Given the description of an element on the screen output the (x, y) to click on. 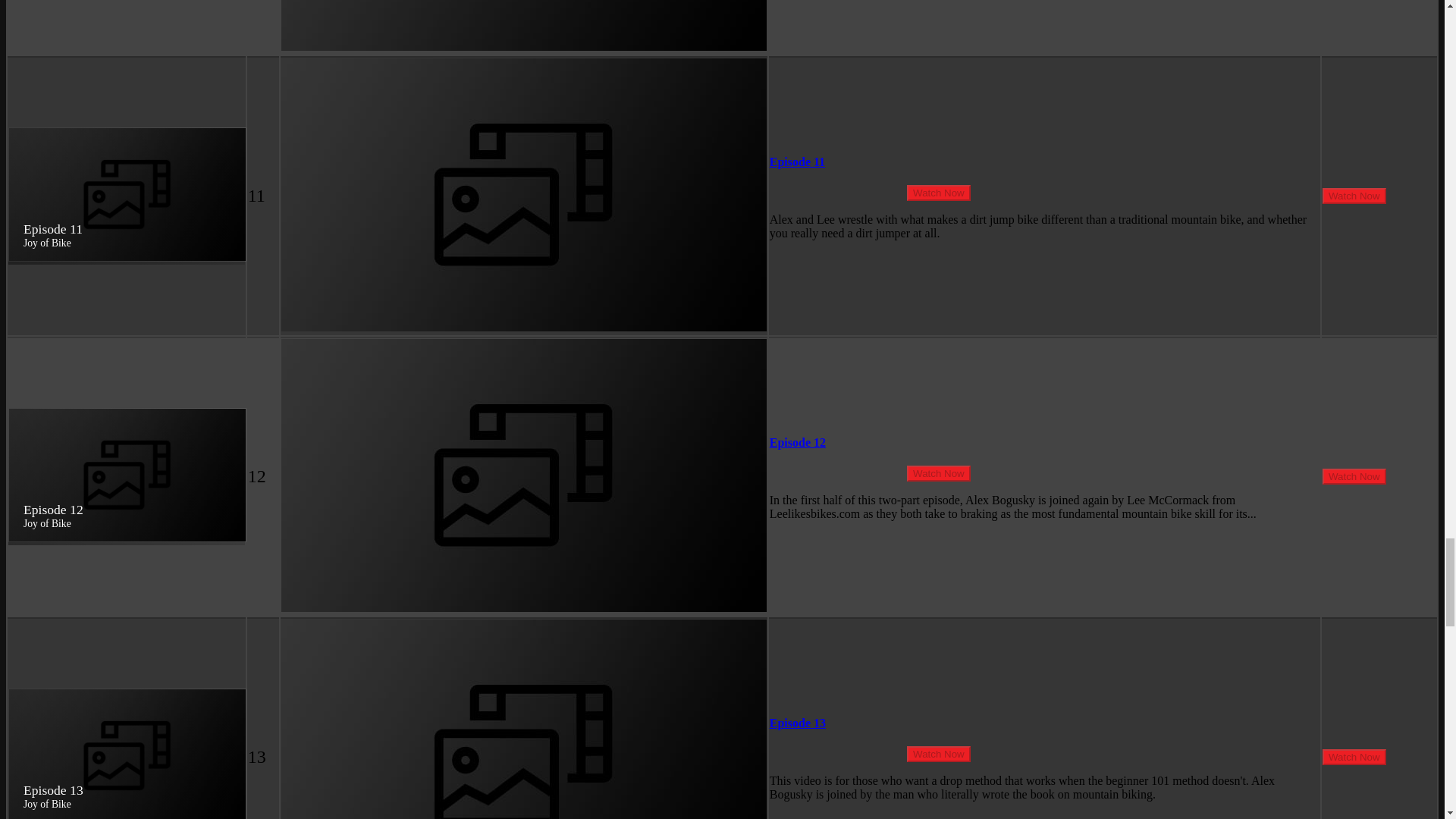
Episode 11 (797, 161)
Episode 13 (797, 722)
Episode 12 (797, 441)
